Given the description of an element on the screen output the (x, y) to click on. 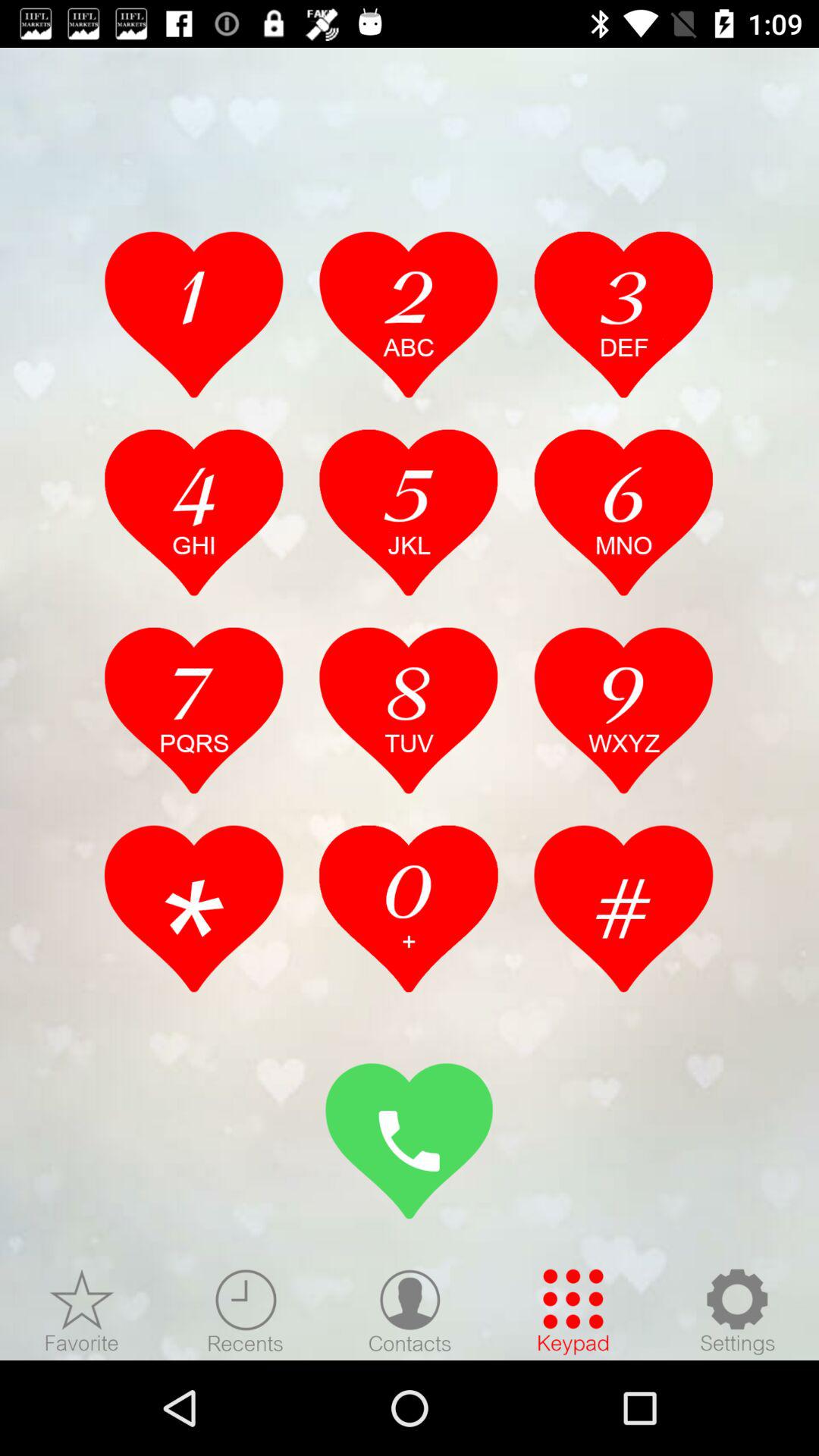
press 6 (623, 512)
